Given the description of an element on the screen output the (x, y) to click on. 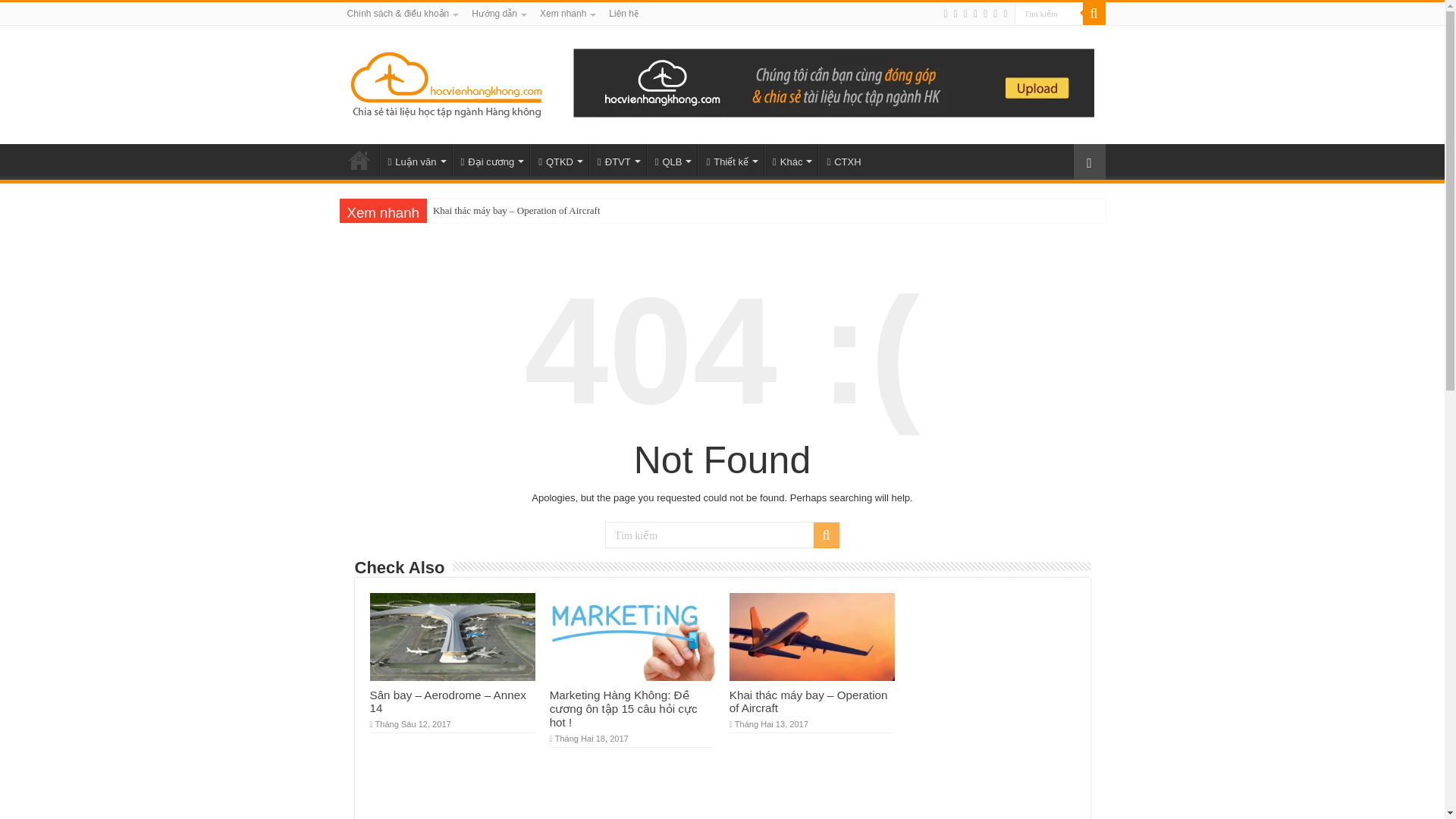
Facebook (965, 13)
instagram (1005, 13)
Xem nhanh (566, 13)
Pinterest (984, 13)
Twitter (975, 13)
Rss (945, 13)
LinkedIn (994, 13)
